Given the description of an element on the screen output the (x, y) to click on. 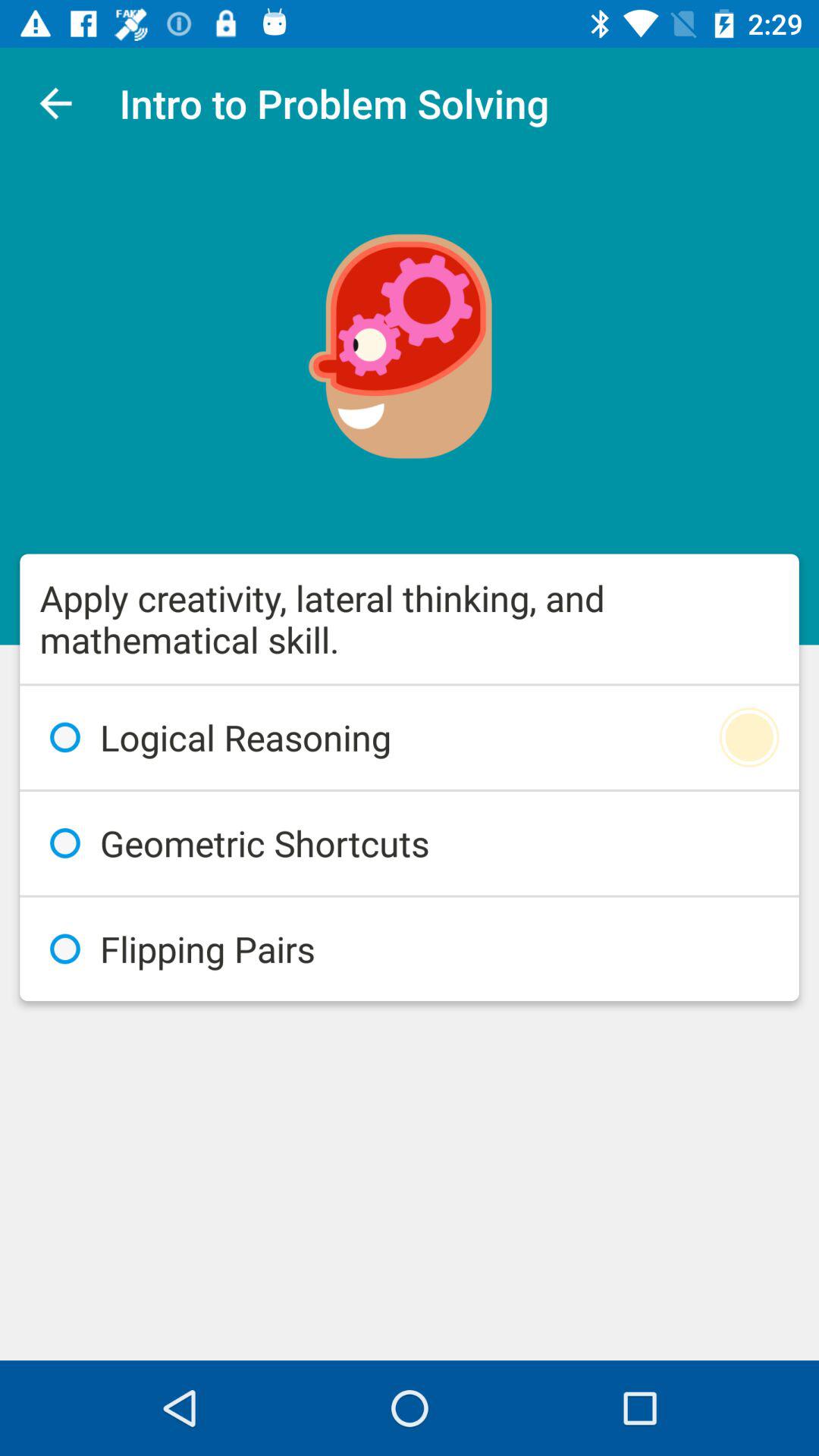
press the item above the flipping pairs icon (409, 843)
